Given the description of an element on the screen output the (x, y) to click on. 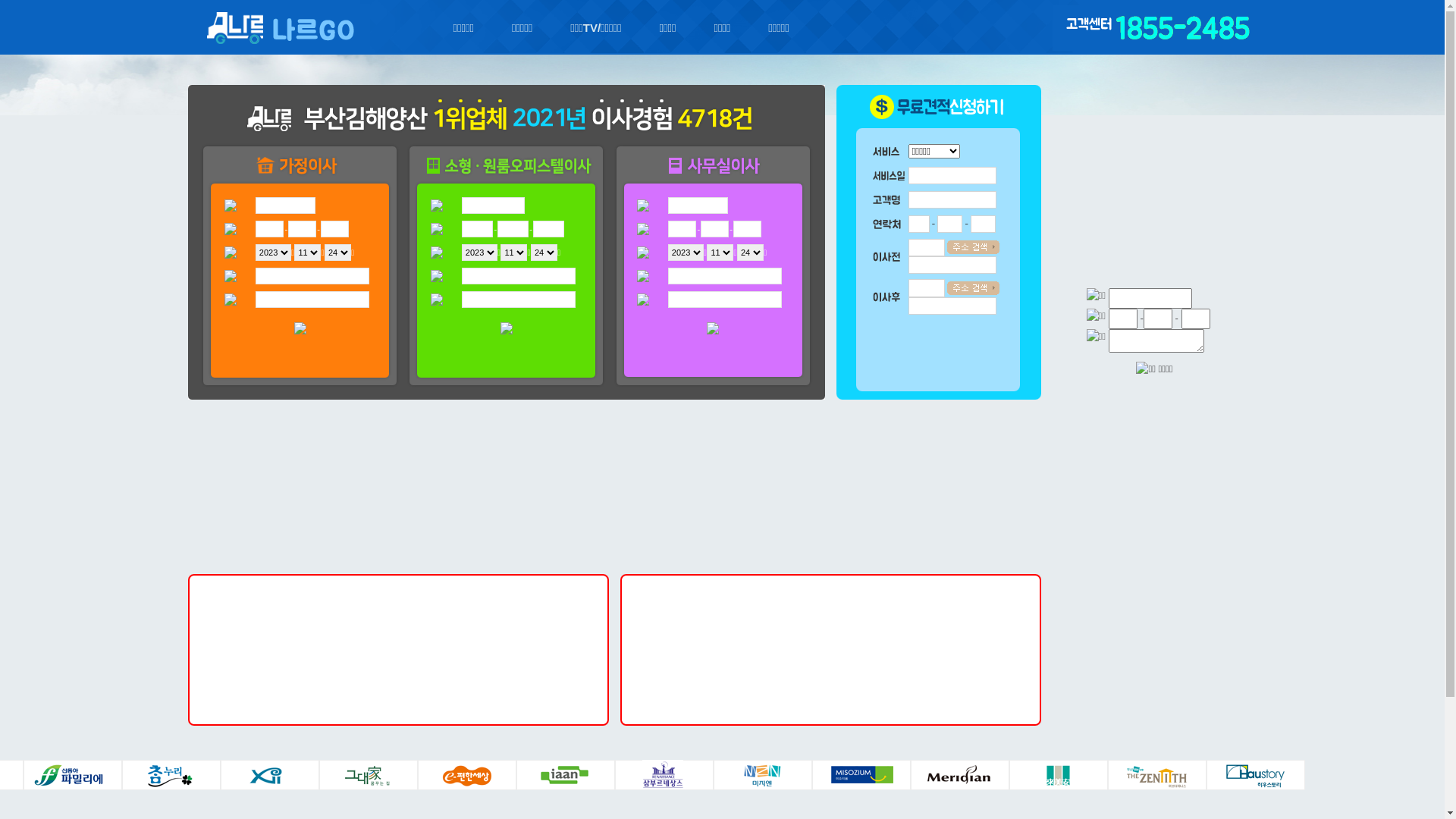
input Element type: hover (1156, 340)
input Element type: hover (1157, 318)
input Element type: hover (1122, 318)
input Element type: hover (1150, 298)
input Element type: hover (1195, 318)
